Given the description of an element on the screen output the (x, y) to click on. 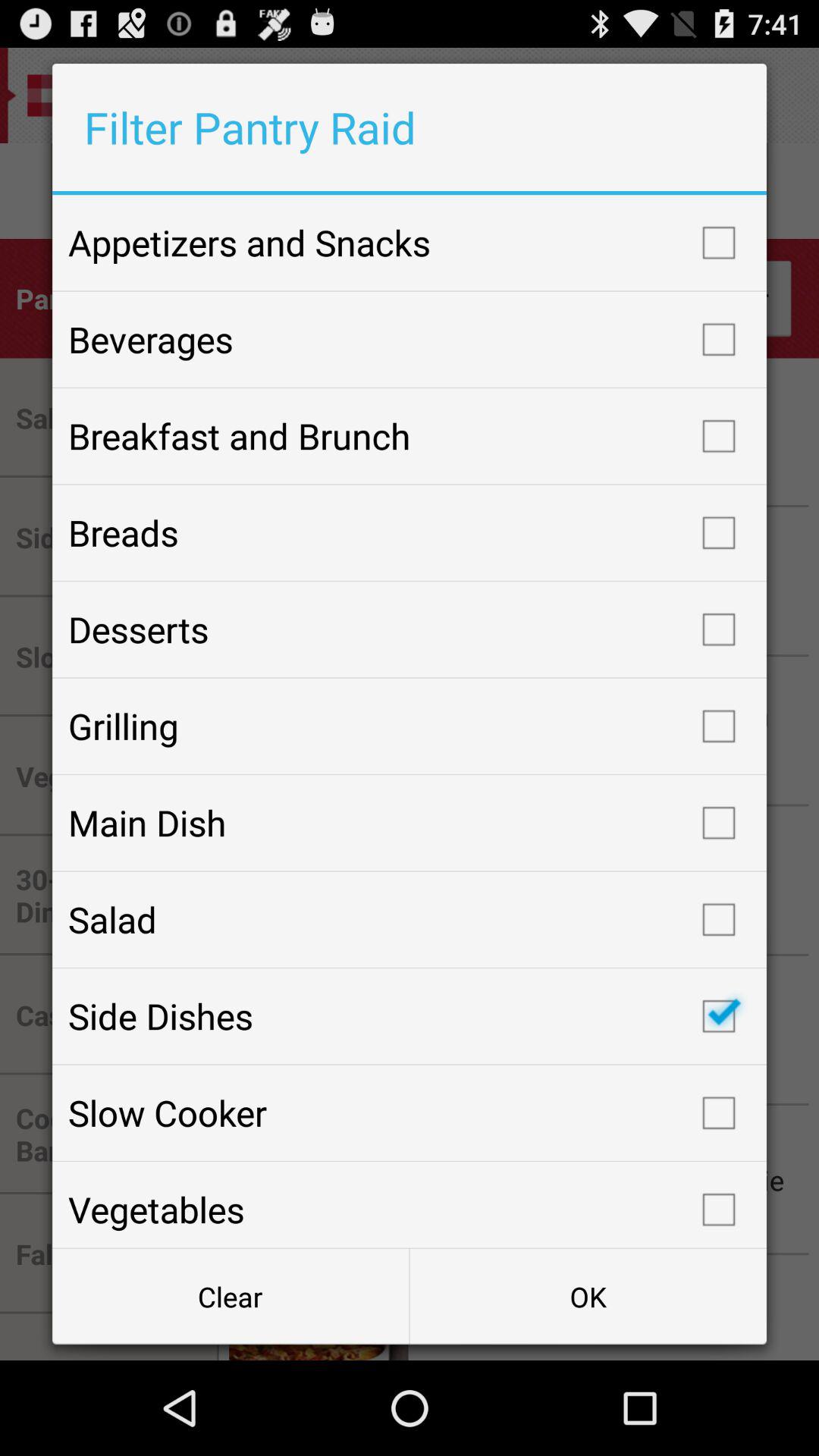
select icon above clear (409, 1204)
